Given the description of an element on the screen output the (x, y) to click on. 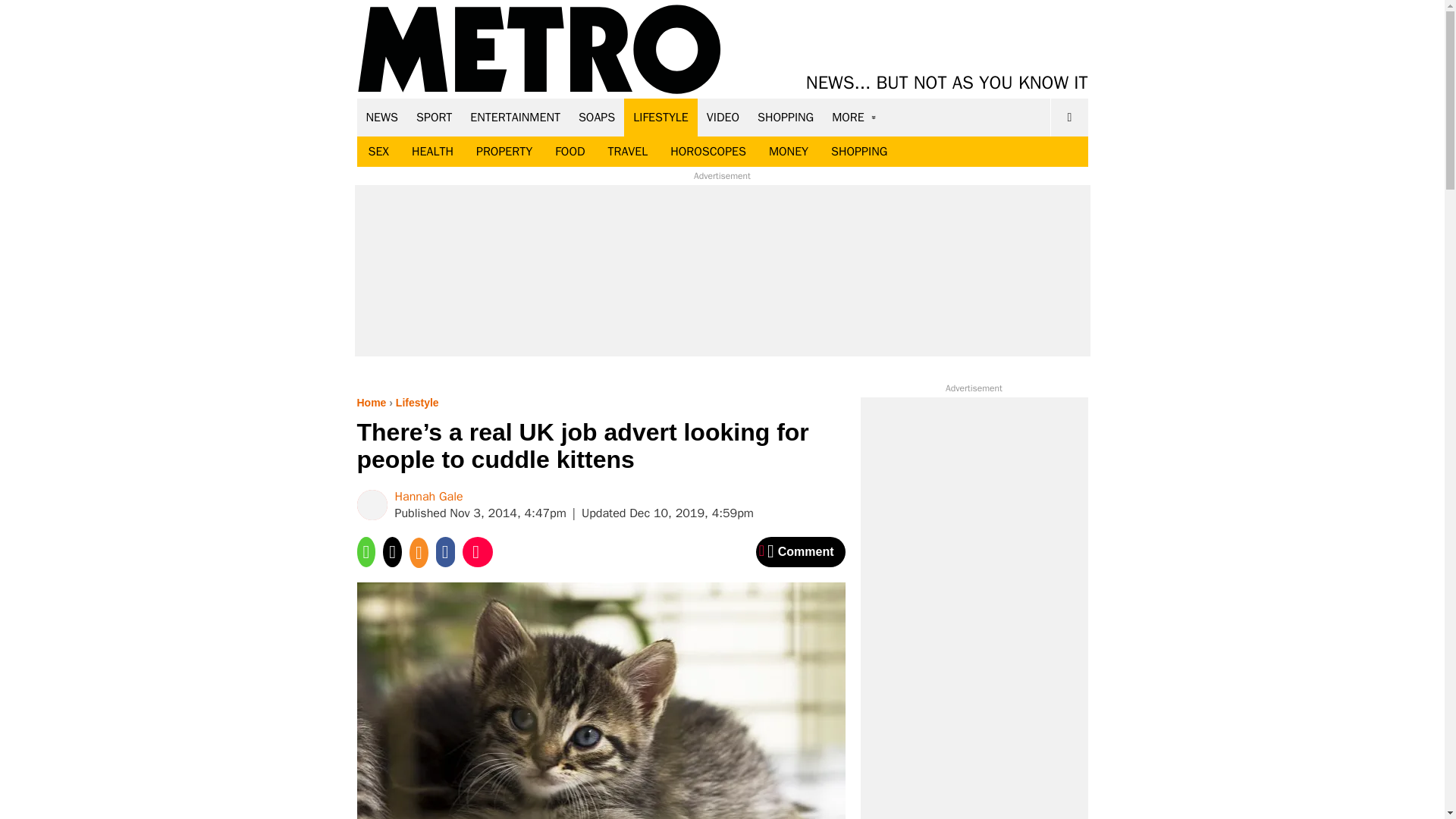
SPORT (434, 117)
Metro (539, 50)
NEWS (381, 117)
PROPERTY (503, 151)
HEALTH (432, 151)
FOOD (569, 151)
LIFESTYLE (660, 117)
SOAPS (596, 117)
SEX (377, 151)
ENTERTAINMENT (515, 117)
